Given the description of an element on the screen output the (x, y) to click on. 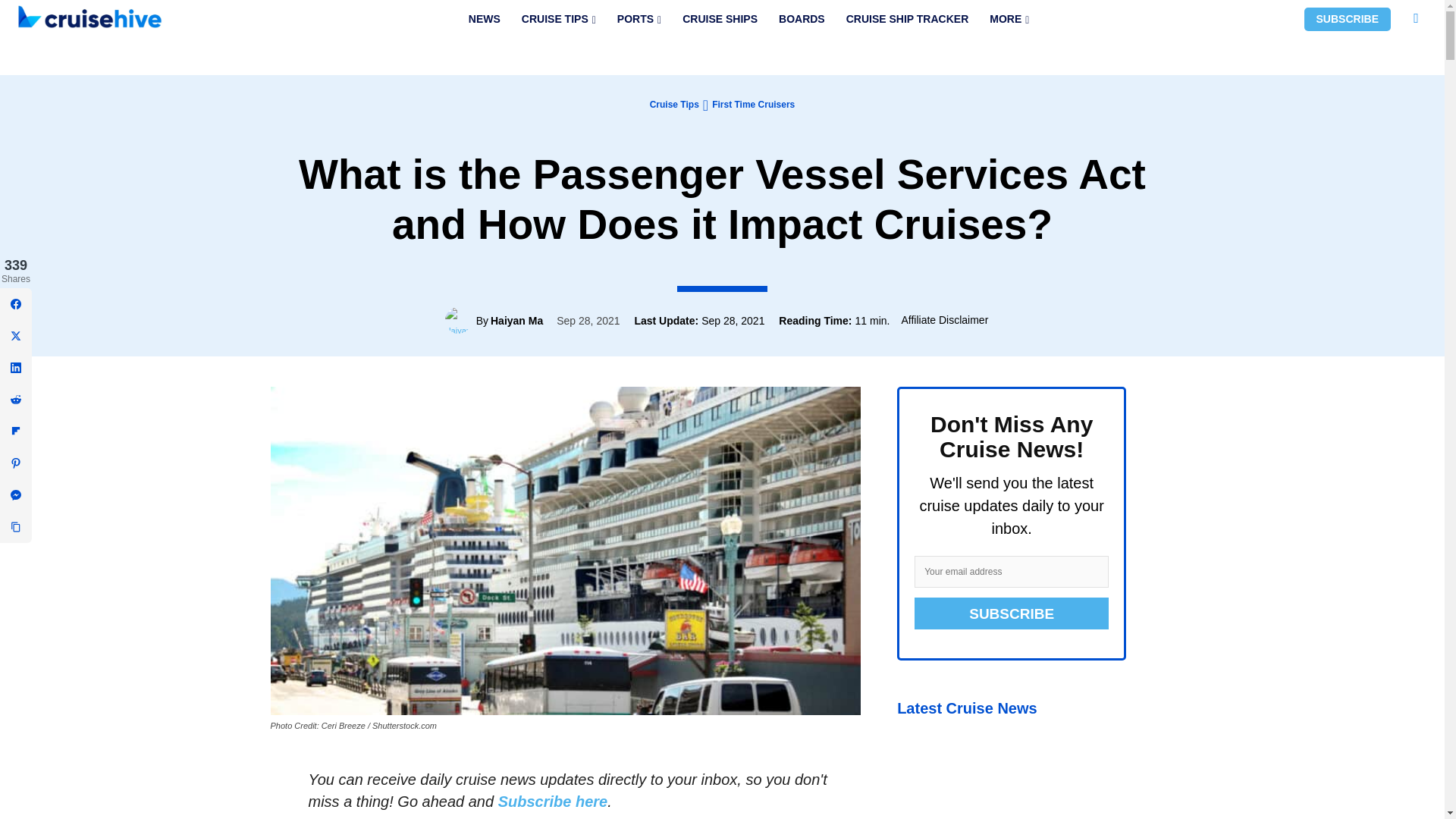
NEWS (484, 19)
View all posts in First Time Cruisers (752, 104)
Haiyan Ma (460, 320)
SUBSCRIBE (1347, 19)
CRUISE TIPS (559, 19)
PORTS (639, 19)
View all posts in Cruise Tips (673, 104)
